Given the description of an element on the screen output the (x, y) to click on. 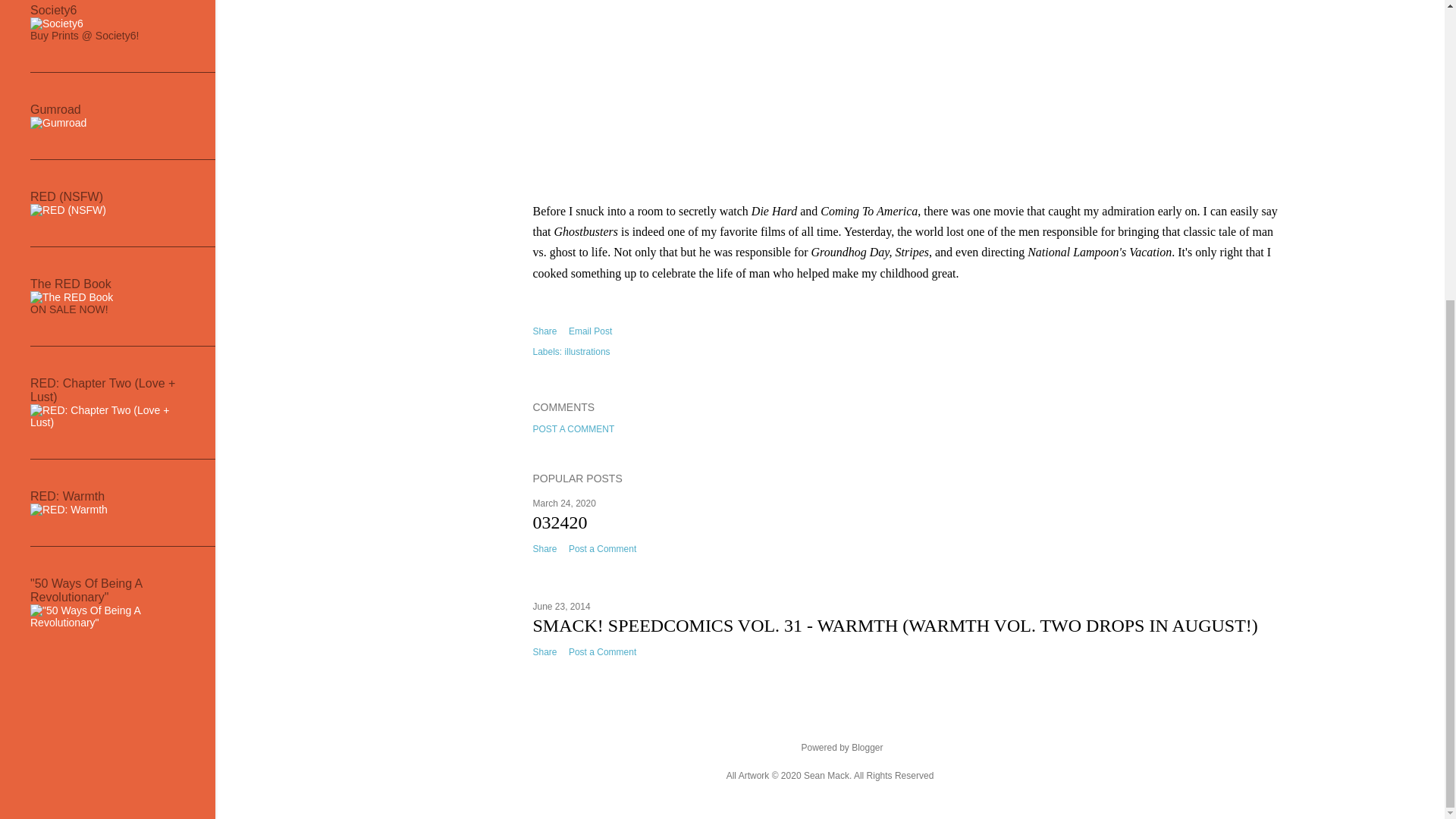
permanent link (563, 502)
Post a Comment (602, 652)
June 23, 2014 (560, 606)
March 24, 2020 (563, 502)
Share (544, 548)
POST A COMMENT (573, 429)
Share (544, 652)
illustrations (587, 351)
032420 (559, 522)
Email Post (589, 331)
Post a Comment (602, 548)
Share (544, 330)
